Given the description of an element on the screen output the (x, y) to click on. 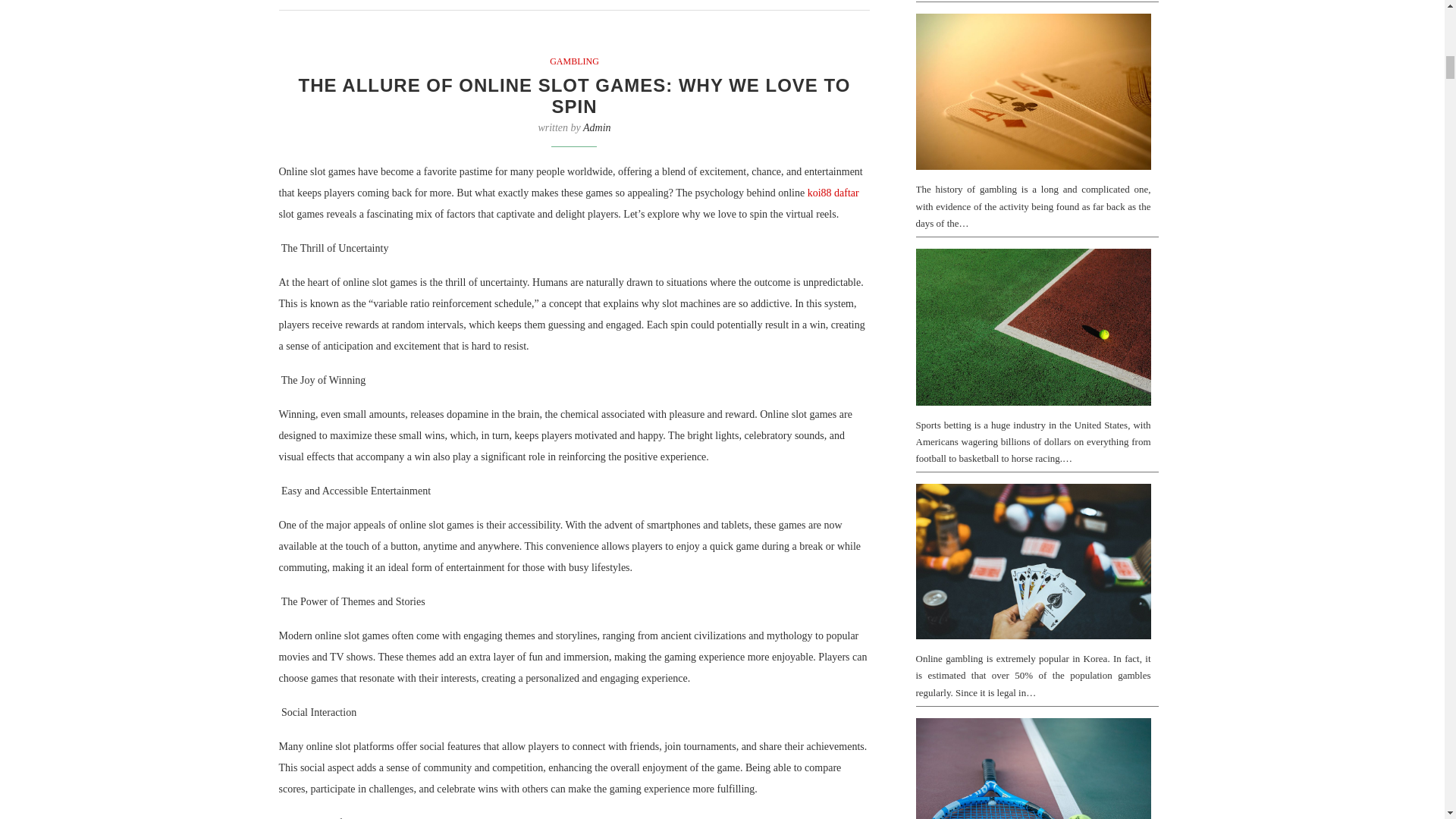
Admin (597, 127)
THE ALLURE OF ONLINE SLOT GAMES: WHY WE LOVE TO SPIN (574, 96)
View all posts in Gambling (574, 61)
GAMBLING (574, 61)
koi88 daftar (833, 193)
